Given the description of an element on the screen output the (x, y) to click on. 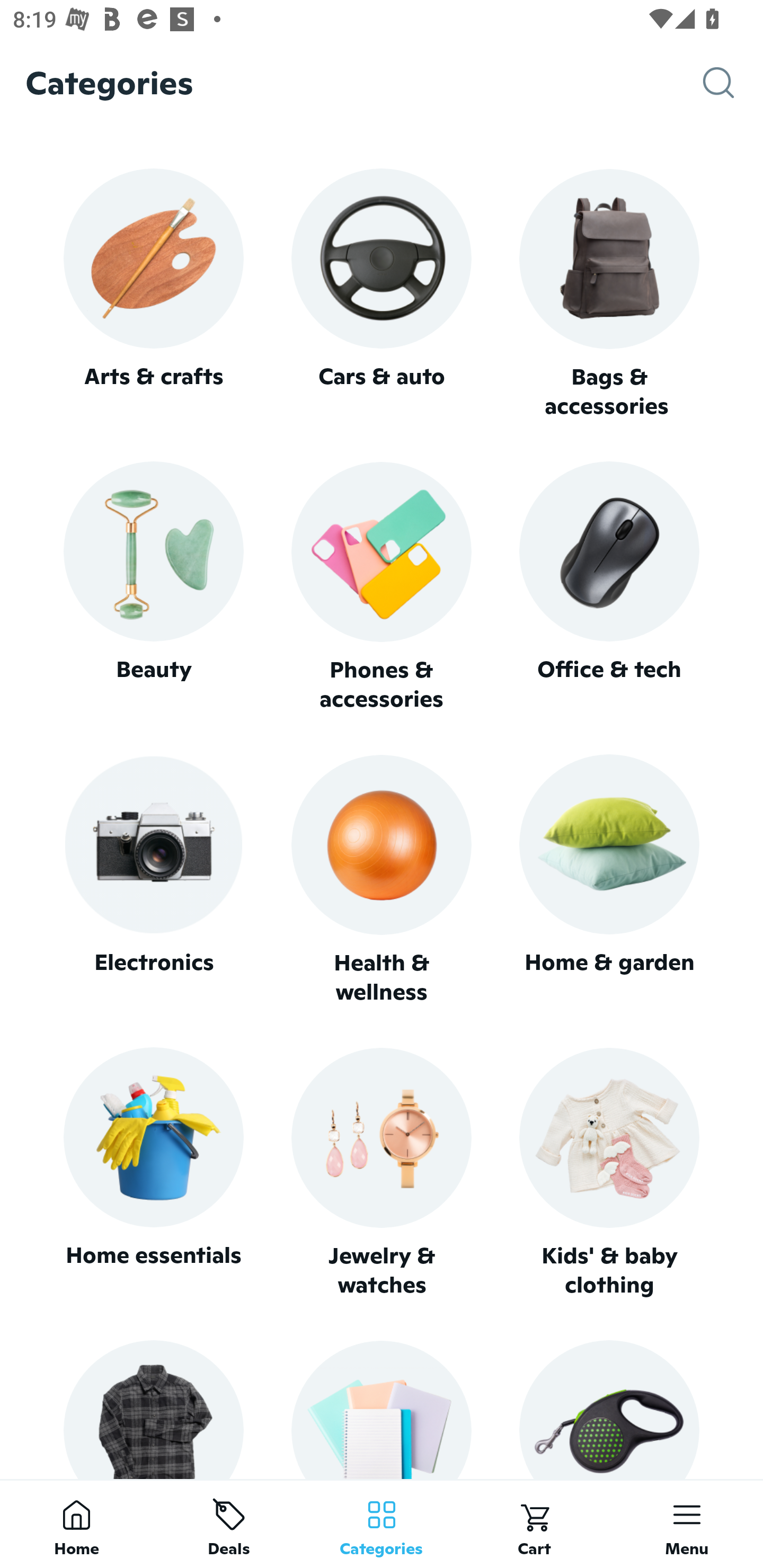
Search (732, 82)
Arts & crafts (153, 293)
Cars & auto (381, 293)
Bags & accessories  (609, 294)
Beauty (153, 586)
Office & tech (609, 586)
Phones & accessories (381, 587)
Electronics (153, 880)
Home & garden (609, 880)
Health & wellness (381, 880)
Home essentials (153, 1172)
Jewelry & watches (381, 1172)
Kids' & baby clothing (609, 1172)
Men's clothing (153, 1409)
Pet supplies (609, 1409)
Office & school supplies (381, 1409)
Home (76, 1523)
Deals (228, 1523)
Categories (381, 1523)
Cart (533, 1523)
Menu (686, 1523)
